Given the description of an element on the screen output the (x, y) to click on. 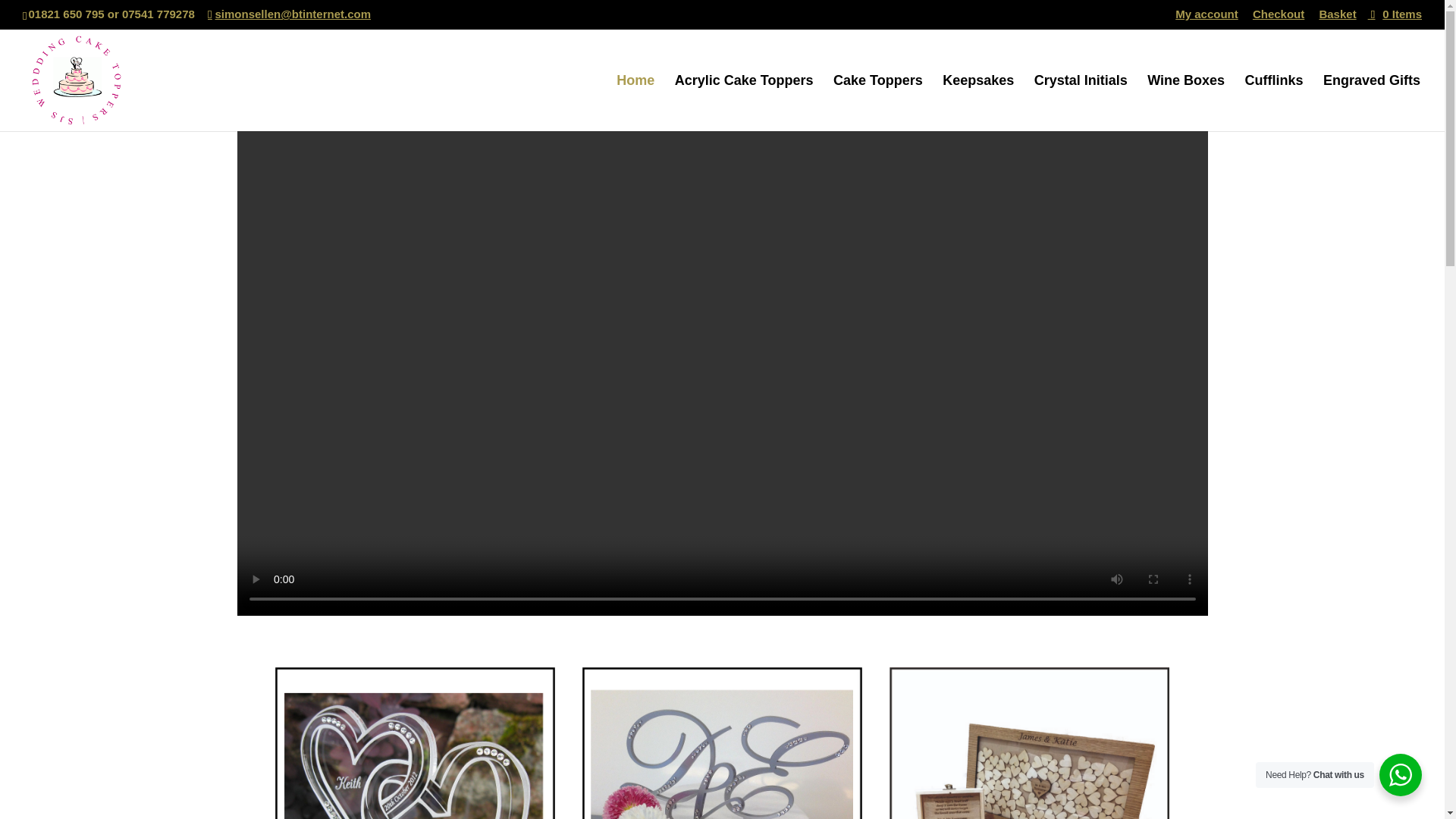
Acrylic Cake Toppers (744, 102)
Checkout (1278, 17)
Keepsakes (977, 102)
0 Items (1395, 13)
Crystal Initials (1079, 102)
Cake Toppers (877, 102)
Wine Boxes (1185, 102)
My account (1206, 17)
Cufflinks (1273, 102)
Basket (1337, 17)
Engraved Gifts (1372, 102)
